Given the description of an element on the screen output the (x, y) to click on. 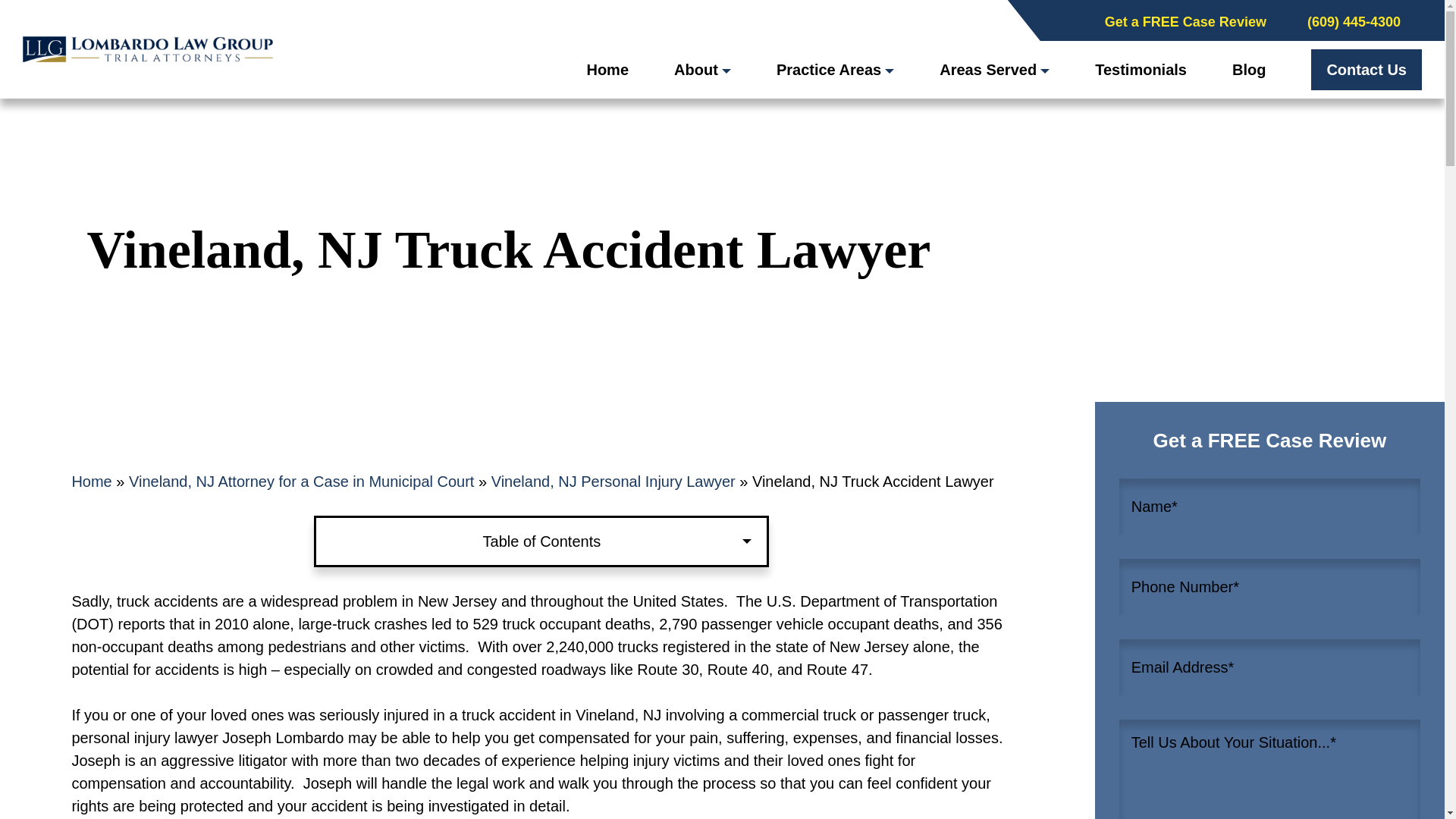
About (702, 69)
Practice Areas (834, 69)
Home (607, 69)
